Given the description of an element on the screen output the (x, y) to click on. 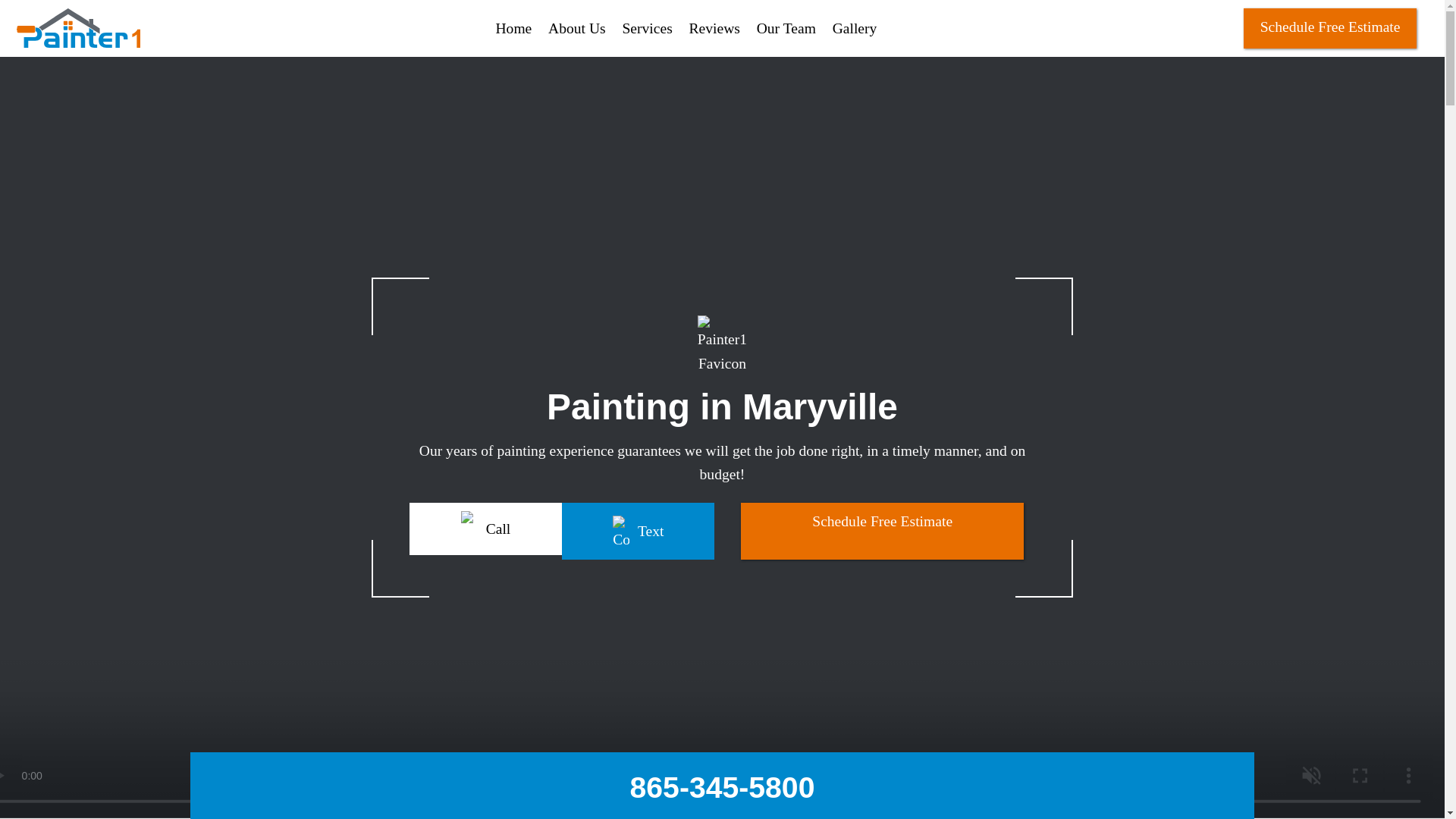
Schedule Free Estimate (882, 530)
865-345-5800 (722, 788)
Reviews (713, 28)
Gallery (854, 28)
Call (485, 528)
Home (513, 28)
Text (638, 530)
Services (646, 28)
Our Team (786, 28)
Schedule Free Estimate (1329, 28)
